Given the description of an element on the screen output the (x, y) to click on. 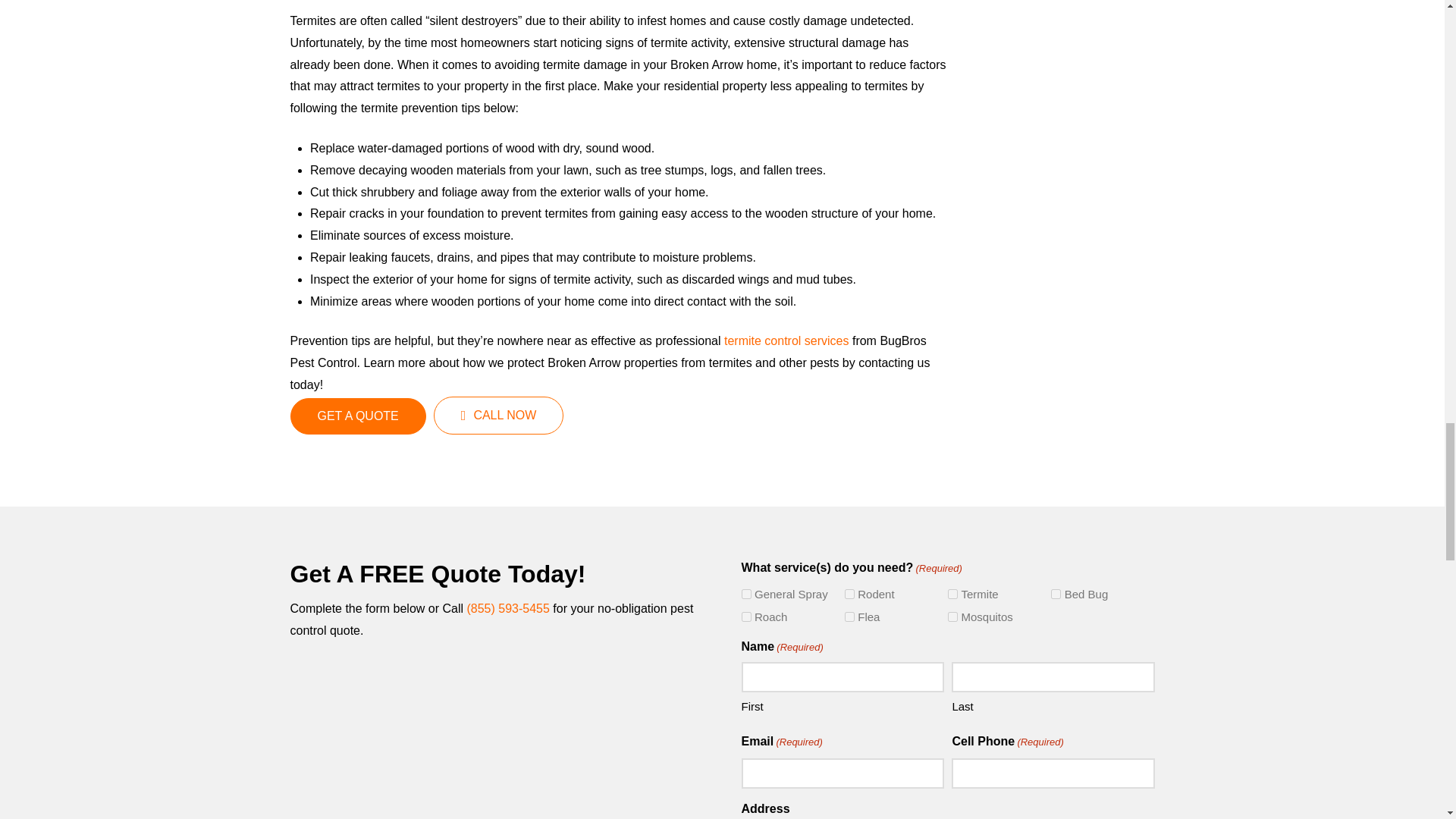
termite control services (784, 340)
Termite (952, 593)
GET A QUOTE (357, 416)
Rodent (849, 593)
Bed Bug (1056, 593)
CALL NOW (498, 415)
General Spray (746, 593)
